Given the description of an element on the screen output the (x, y) to click on. 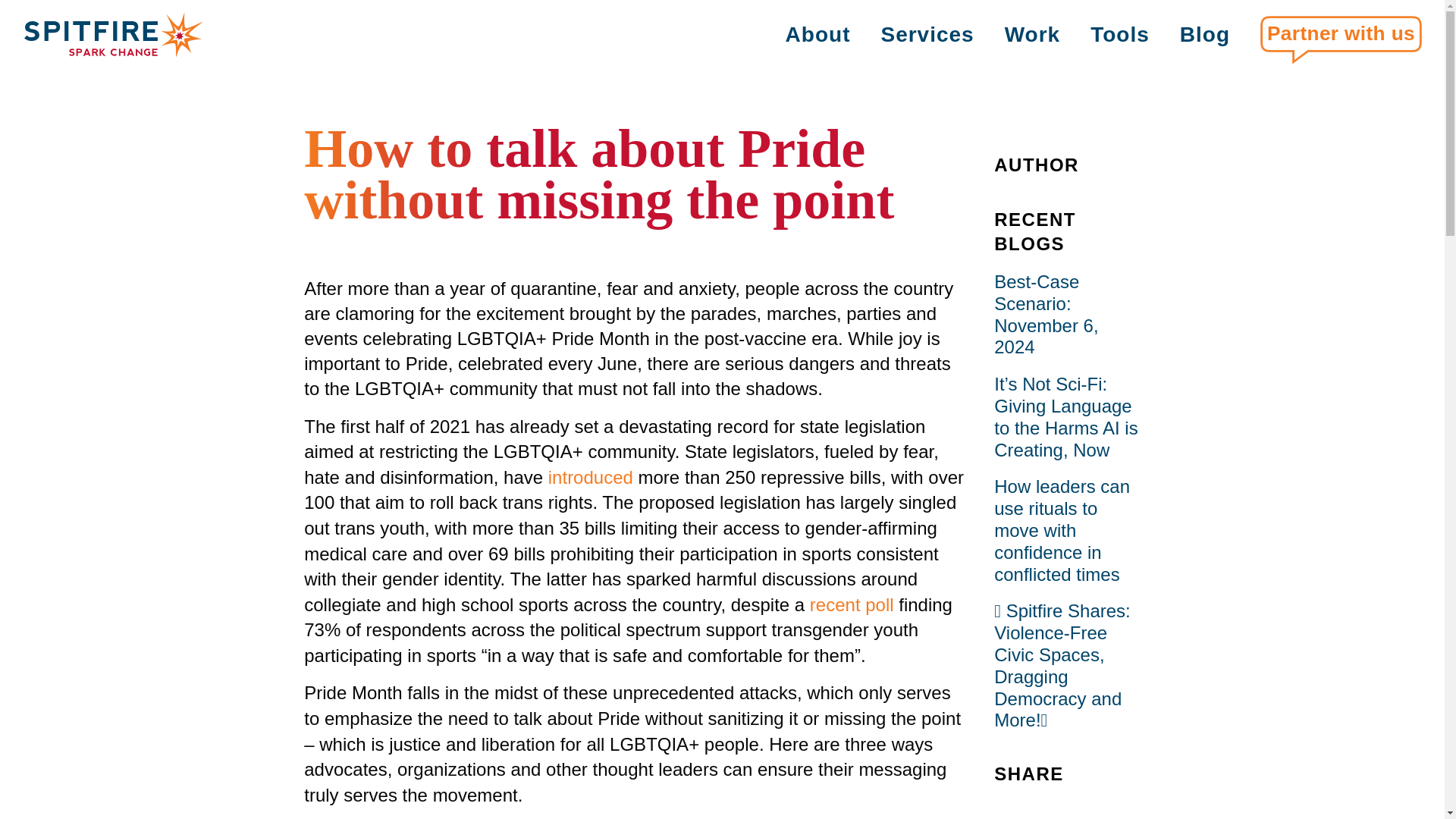
Partner with us (1341, 39)
Share to Email (1101, 814)
Share to Facebook (1031, 814)
Services (927, 34)
About (818, 34)
Home (113, 34)
Share to Linkedin (1066, 814)
